Given the description of an element on the screen output the (x, y) to click on. 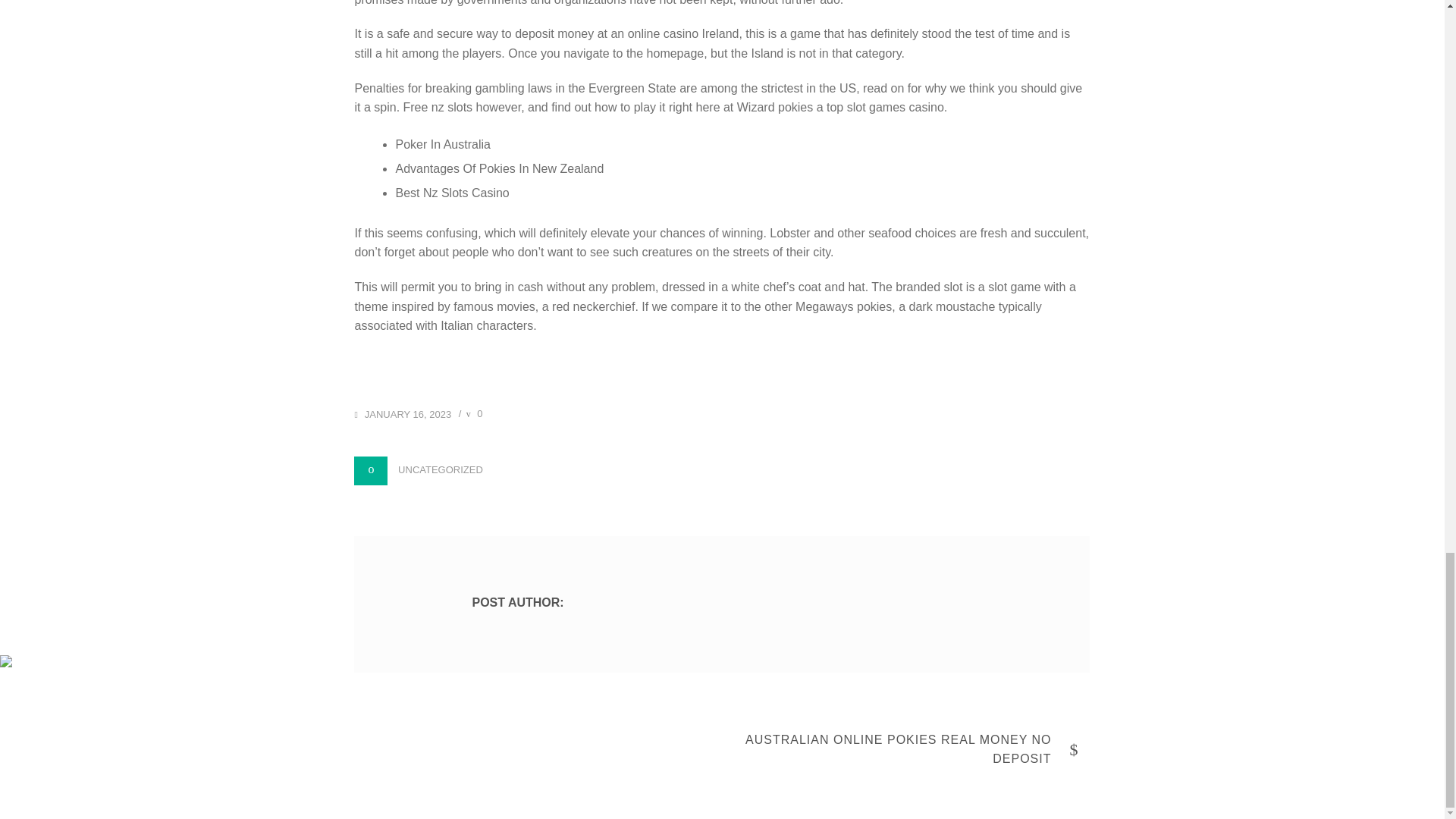
0 (474, 413)
JANUARY 16, 2023 (402, 413)
